Given the description of an element on the screen output the (x, y) to click on. 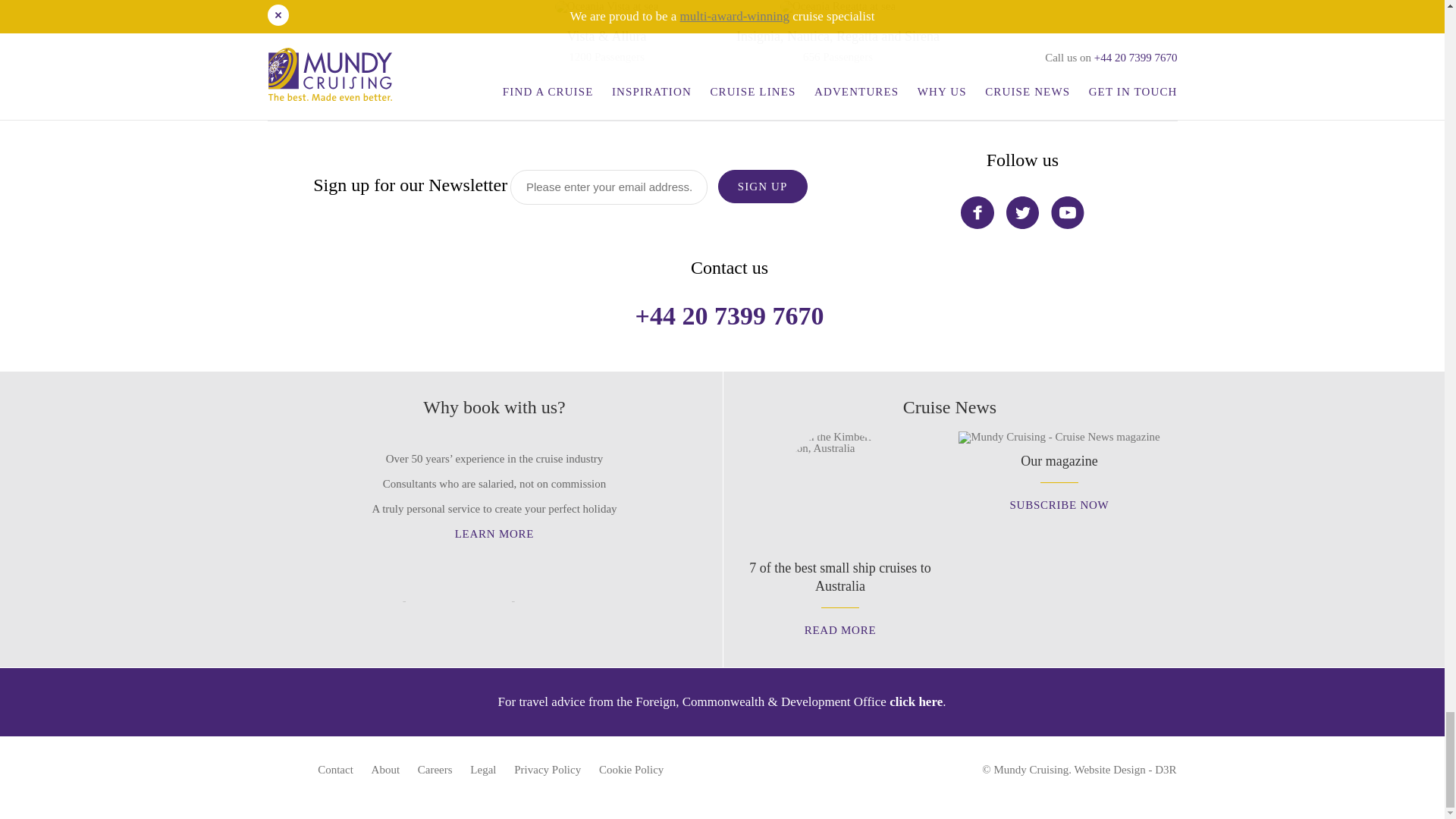
SIGN UP (762, 186)
LEARN MORE (840, 589)
